Given the description of an element on the screen output the (x, y) to click on. 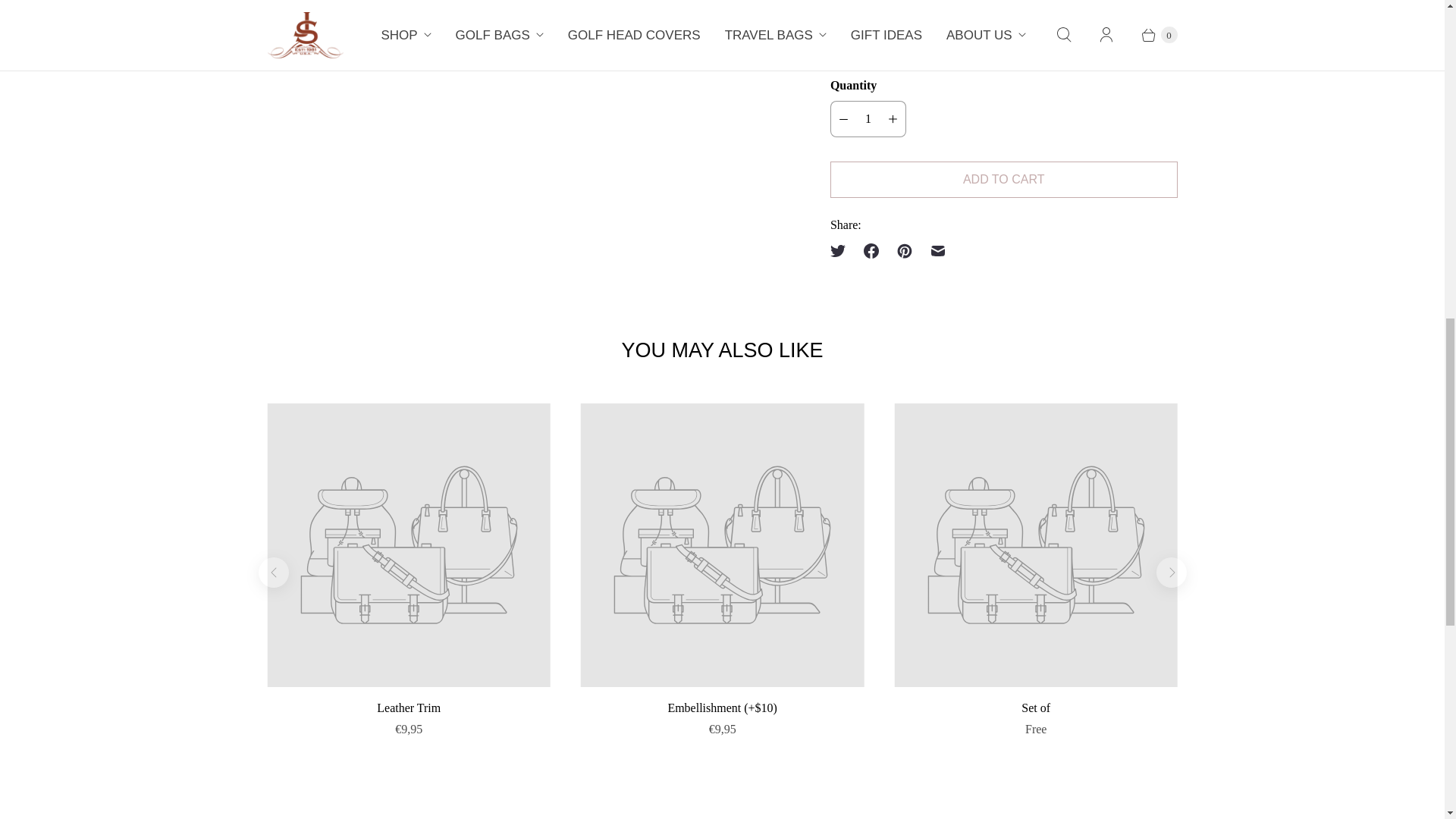
Email this to a friend (938, 250)
Share this on Pinterest (904, 250)
Share this on Facebook (871, 250)
